Given the description of an element on the screen output the (x, y) to click on. 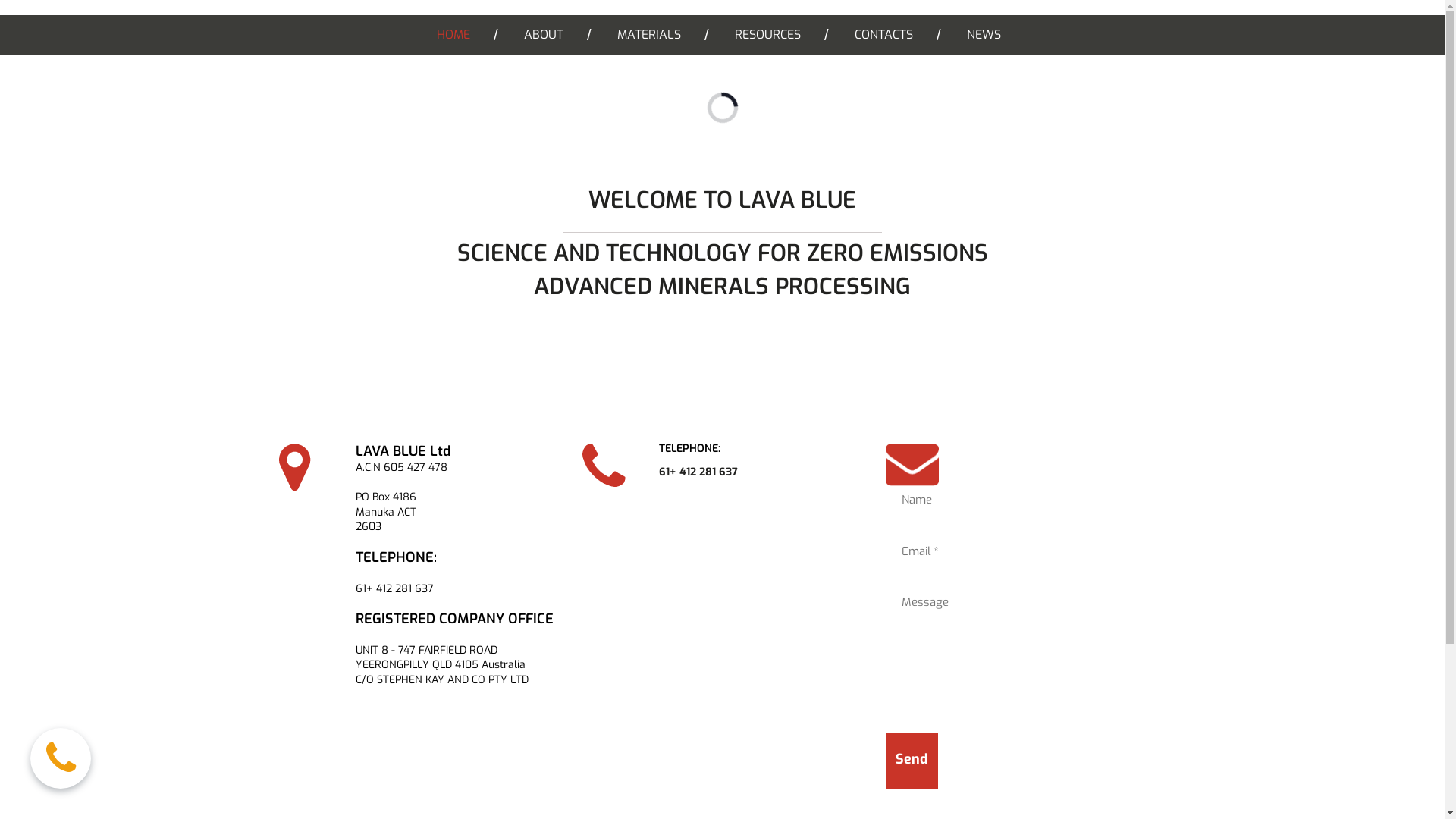
Send Element type: text (911, 760)
ABOUT Element type: text (543, 34)
MATERIALS Element type: text (648, 34)
HOME Element type: text (453, 34)
NEWS Element type: text (983, 34)
CONTACTS Element type: text (883, 34)
RESOURCES Element type: text (767, 34)
